Given the description of an element on the screen output the (x, y) to click on. 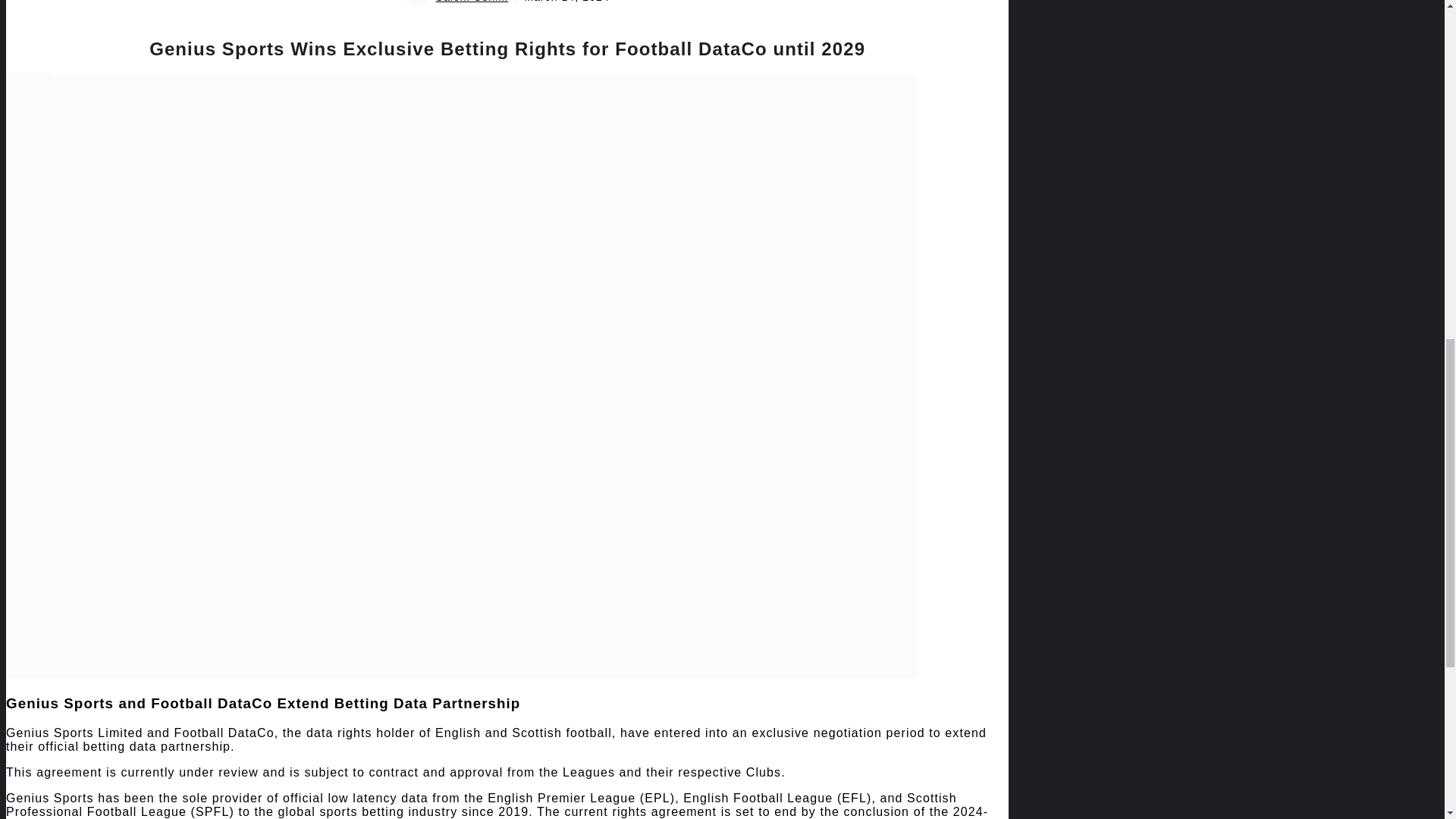
Saloni Sehmi (471, 1)
